Given the description of an element on the screen output the (x, y) to click on. 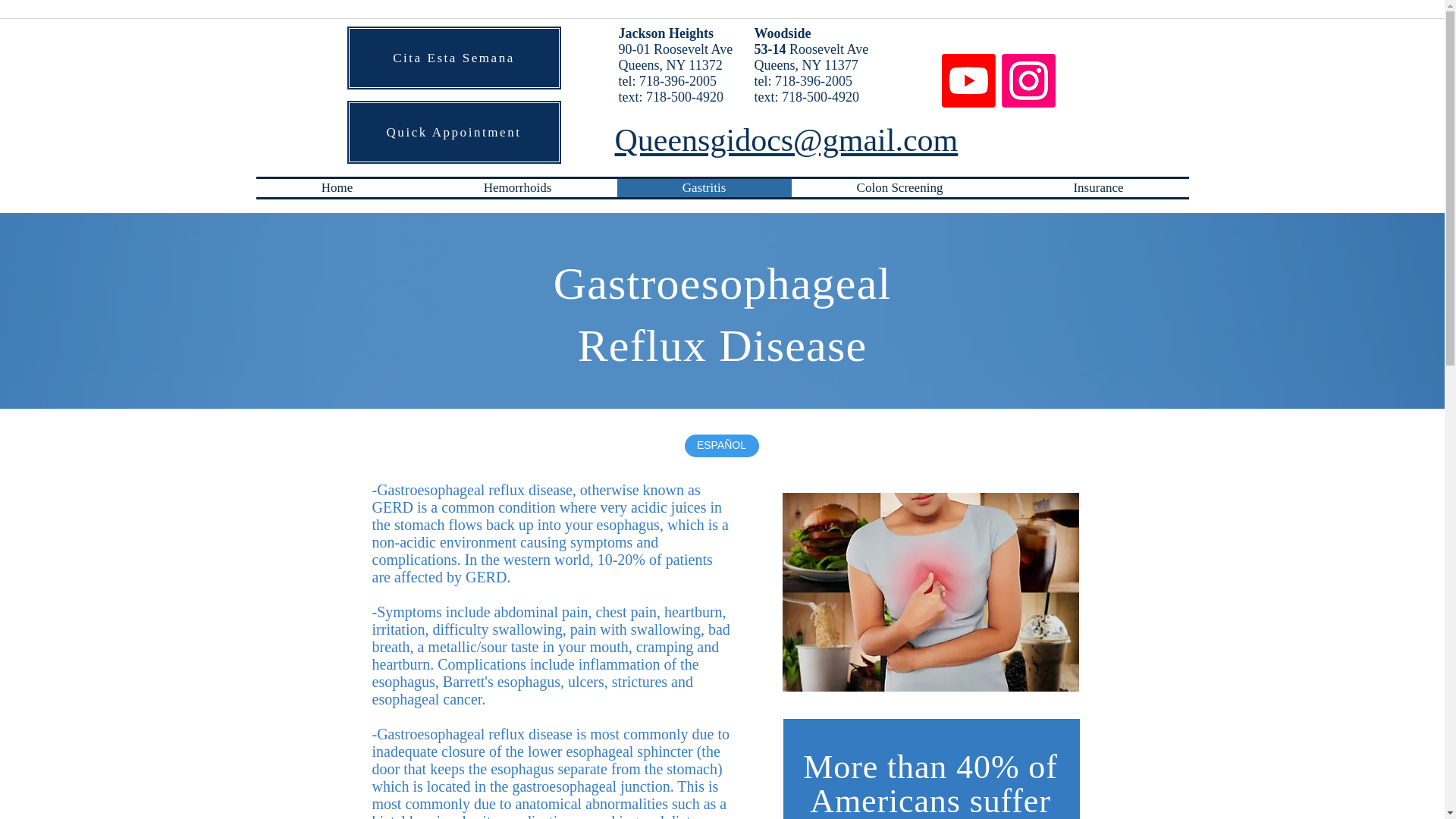
tel: 718-396-2005 (802, 80)
Hemorrhoids (518, 188)
Gastritis (704, 188)
Quick Appointment (453, 131)
tel: 718-396-2005 (667, 80)
Cita Esta Semana (453, 57)
Home (337, 188)
Colon Screening (900, 188)
Insurance (1099, 188)
